Given the description of an element on the screen output the (x, y) to click on. 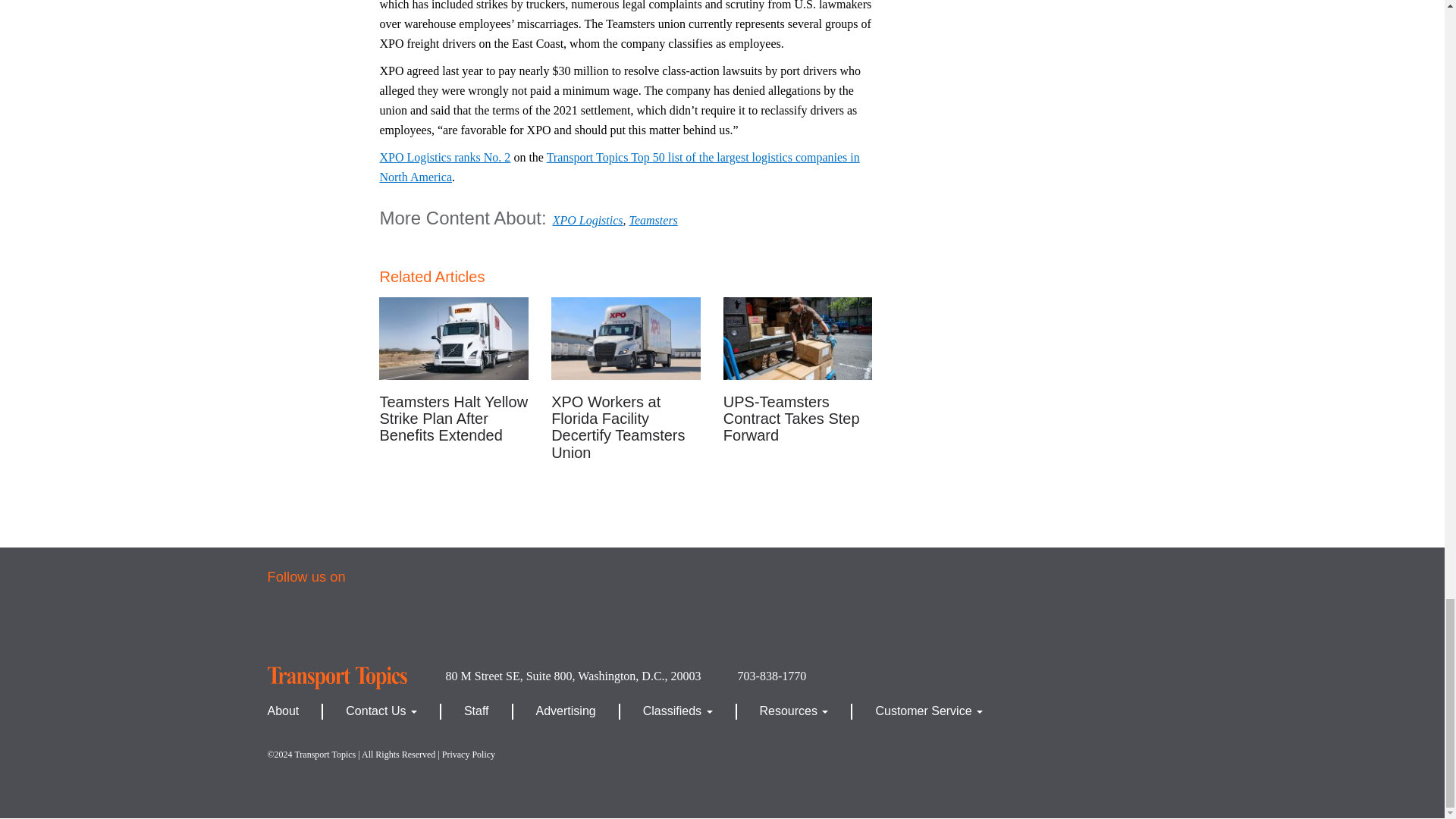
Follow us on Facebook (295, 624)
Follow us on Twitter (350, 624)
